Given the description of an element on the screen output the (x, y) to click on. 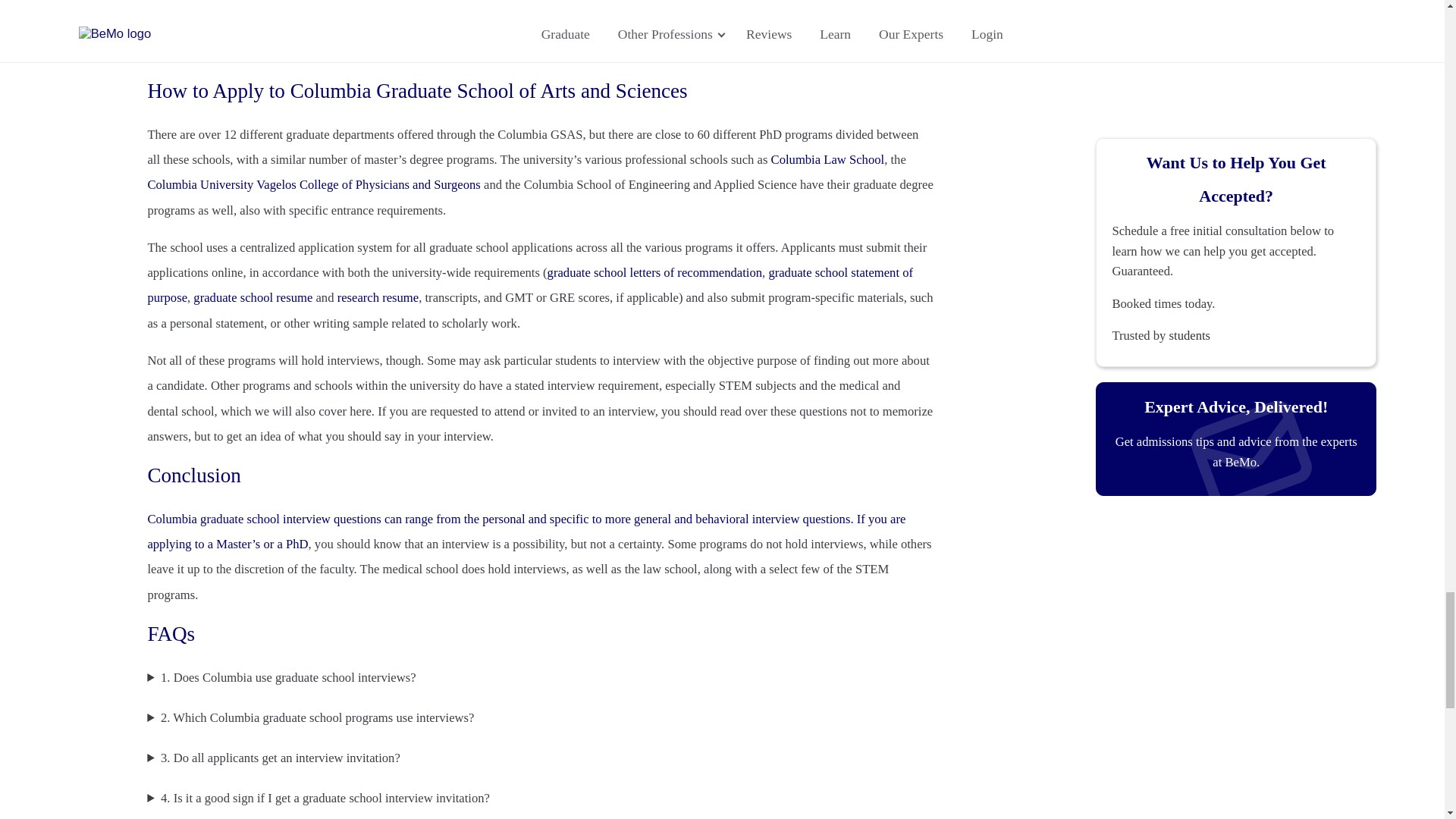
graduate school statement of purpose (529, 284)
graduate school resume (253, 297)
Columbia Law School (828, 159)
graduate school letters of recommendation (654, 272)
